Given the description of an element on the screen output the (x, y) to click on. 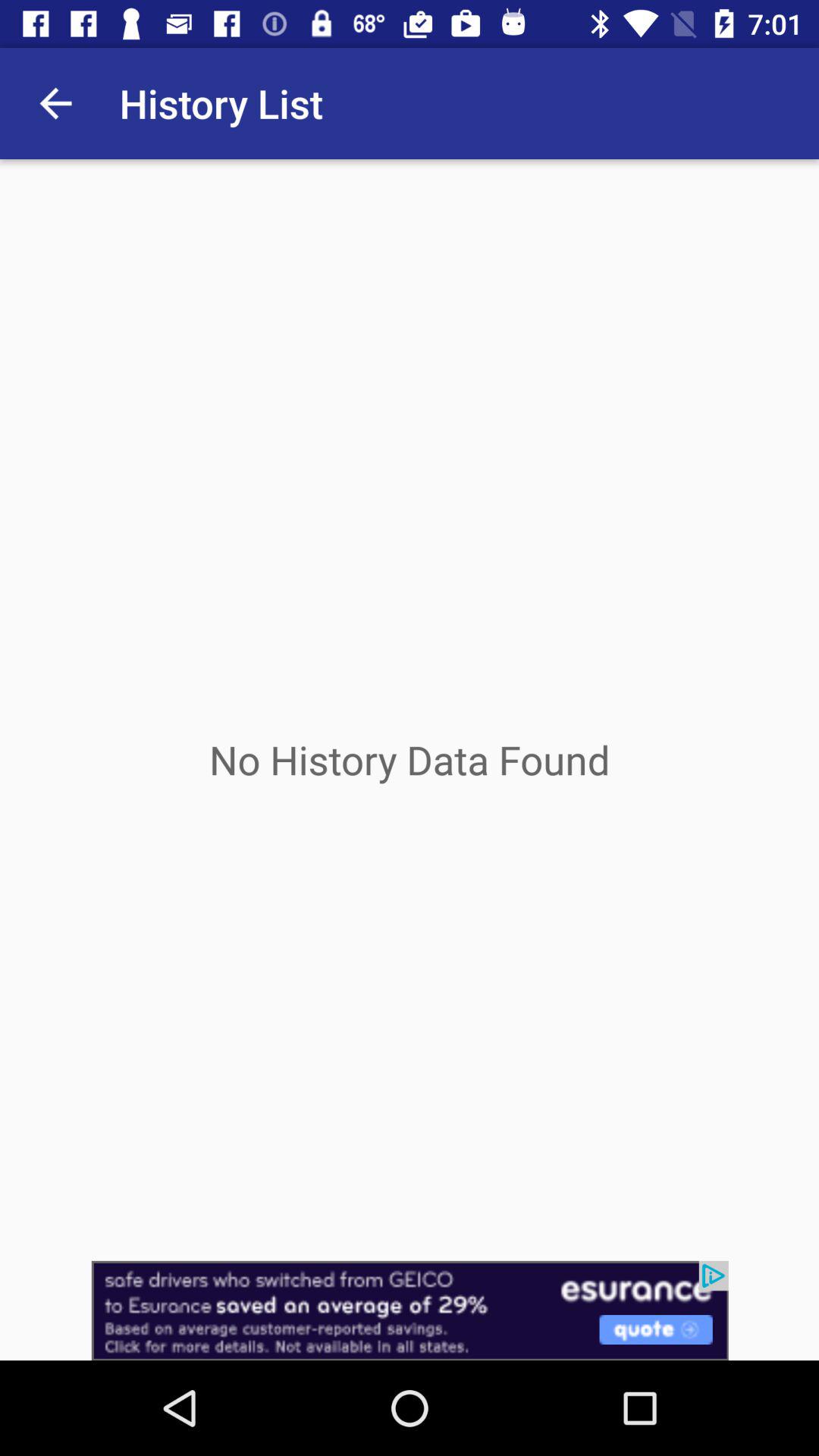
open advertisement (409, 1310)
